Given the description of an element on the screen output the (x, y) to click on. 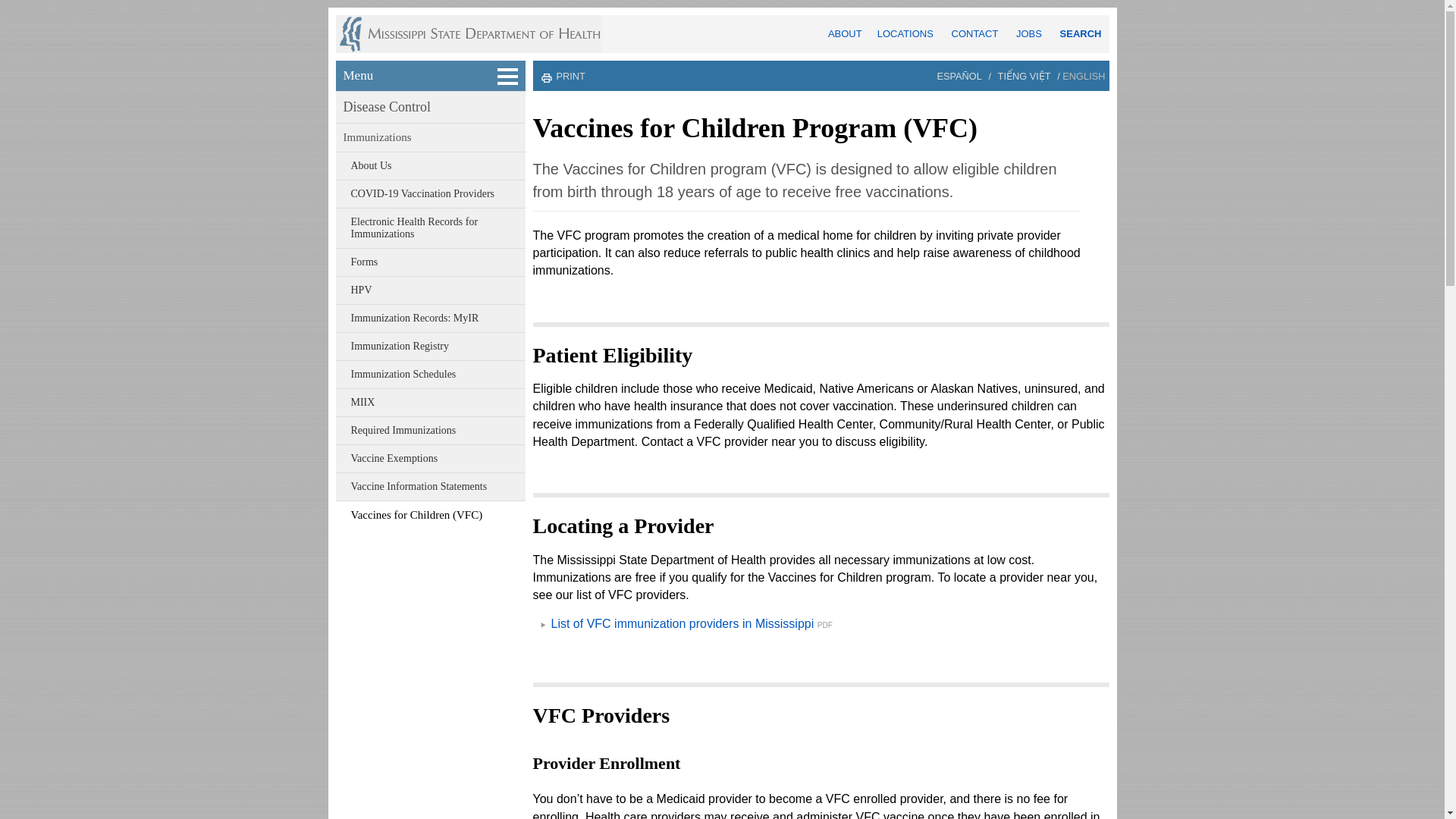
About Us (431, 165)
JOBS (1029, 33)
Immunization Schedules (431, 374)
Click to see all website sections (431, 75)
Immunizations (431, 137)
Forms (431, 262)
Immunization Records: MyIR (431, 318)
Electronic Health Records for Immunizations (431, 228)
ABOUT (845, 33)
Vaccine Information Statements (431, 486)
